Given the description of an element on the screen output the (x, y) to click on. 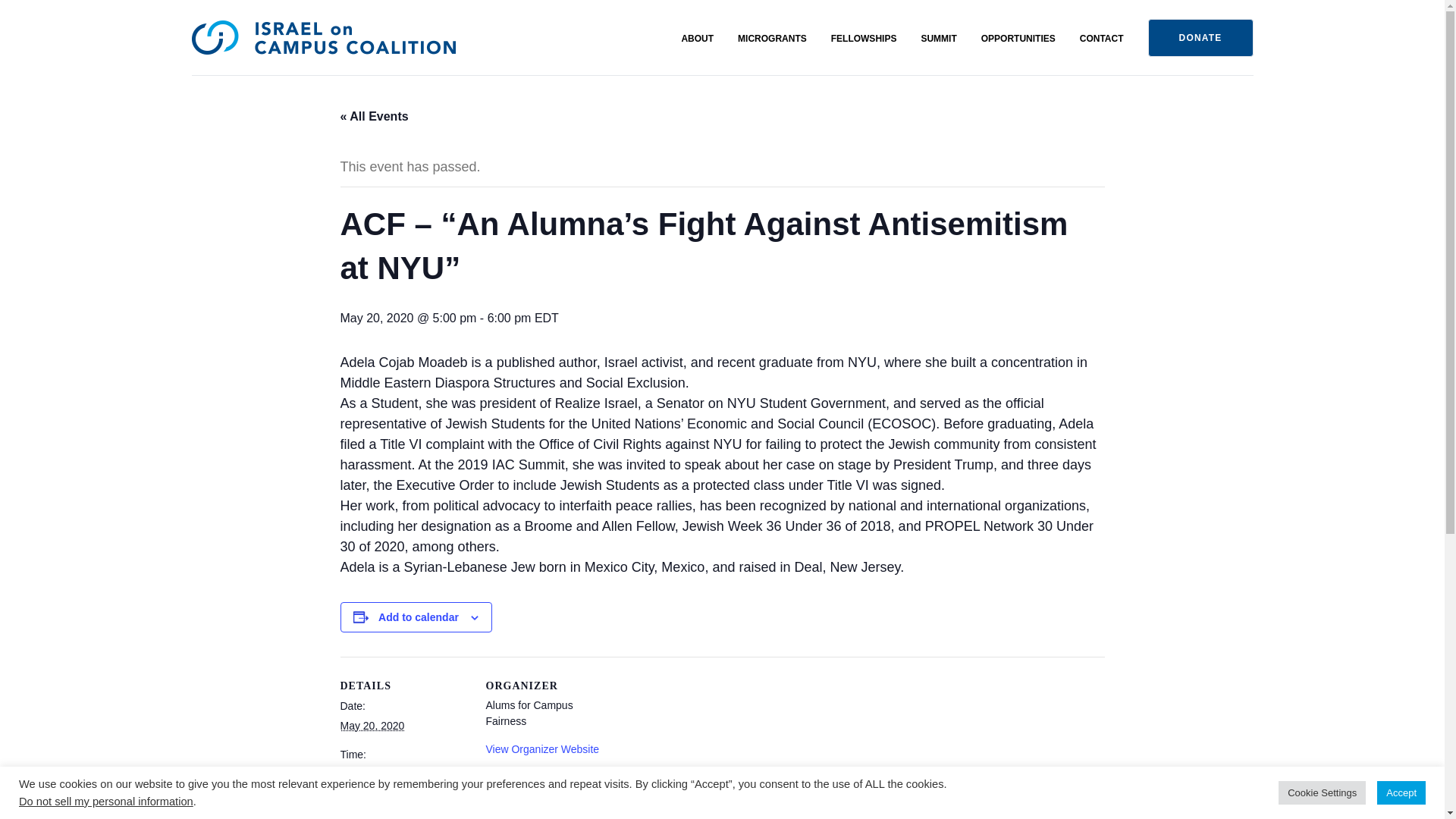
CONTACT (1102, 38)
SUMMIT (938, 38)
2020-05-20 (403, 774)
Accept (1401, 792)
Add to calendar (418, 616)
Do not sell my personal information (105, 801)
ABOUT (697, 38)
FELLOWSHIPS (863, 38)
2020-05-20 (371, 725)
OPPORTUNITIES (1018, 38)
View Organizer Website (541, 748)
MICROGRANTS (772, 38)
Cookie Settings (1321, 792)
DONATE (1201, 36)
